Given the description of an element on the screen output the (x, y) to click on. 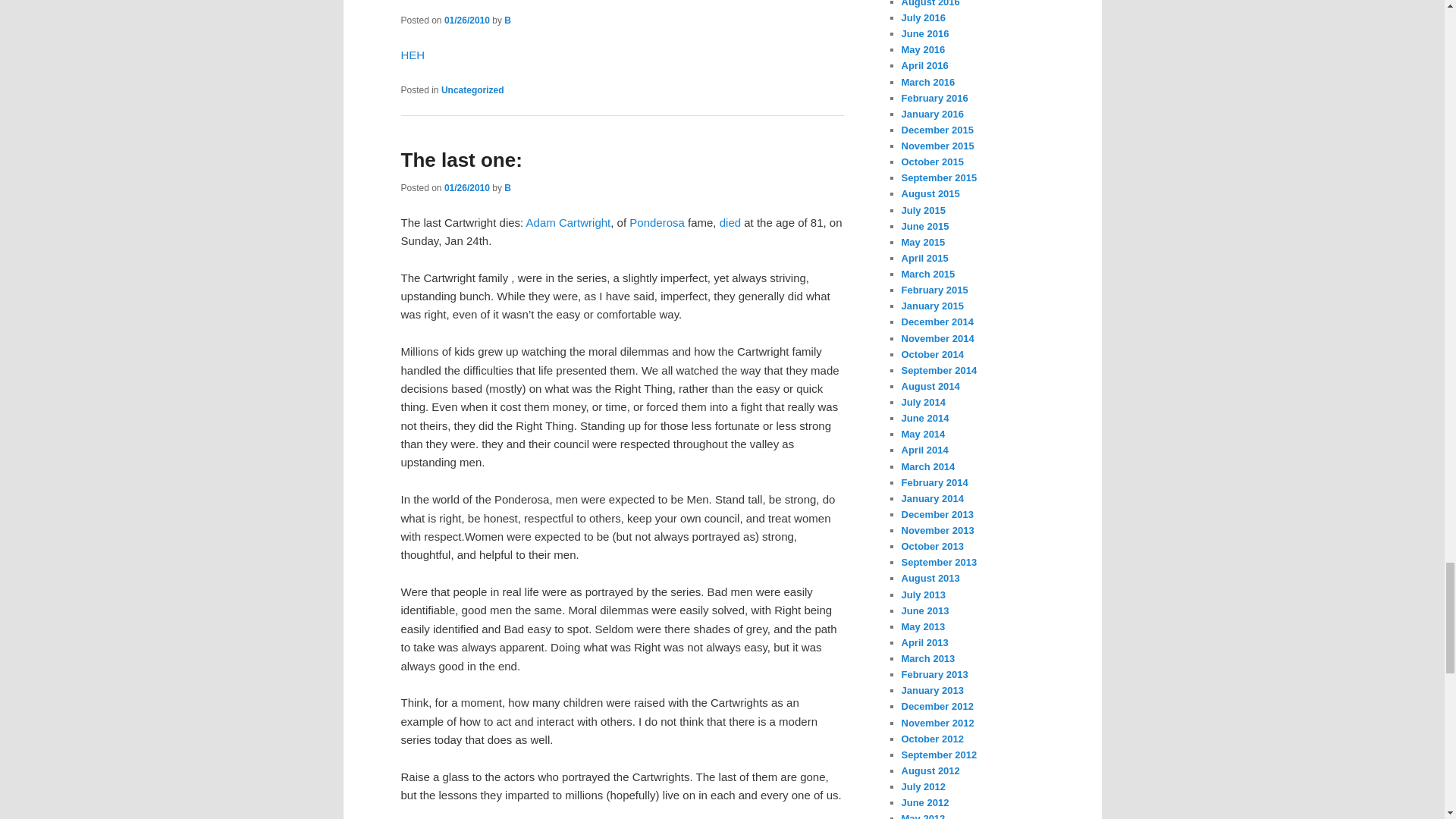
15:37 (466, 20)
14:52 (466, 187)
Damnit! (437, 2)
